Given the description of an element on the screen output the (x, y) to click on. 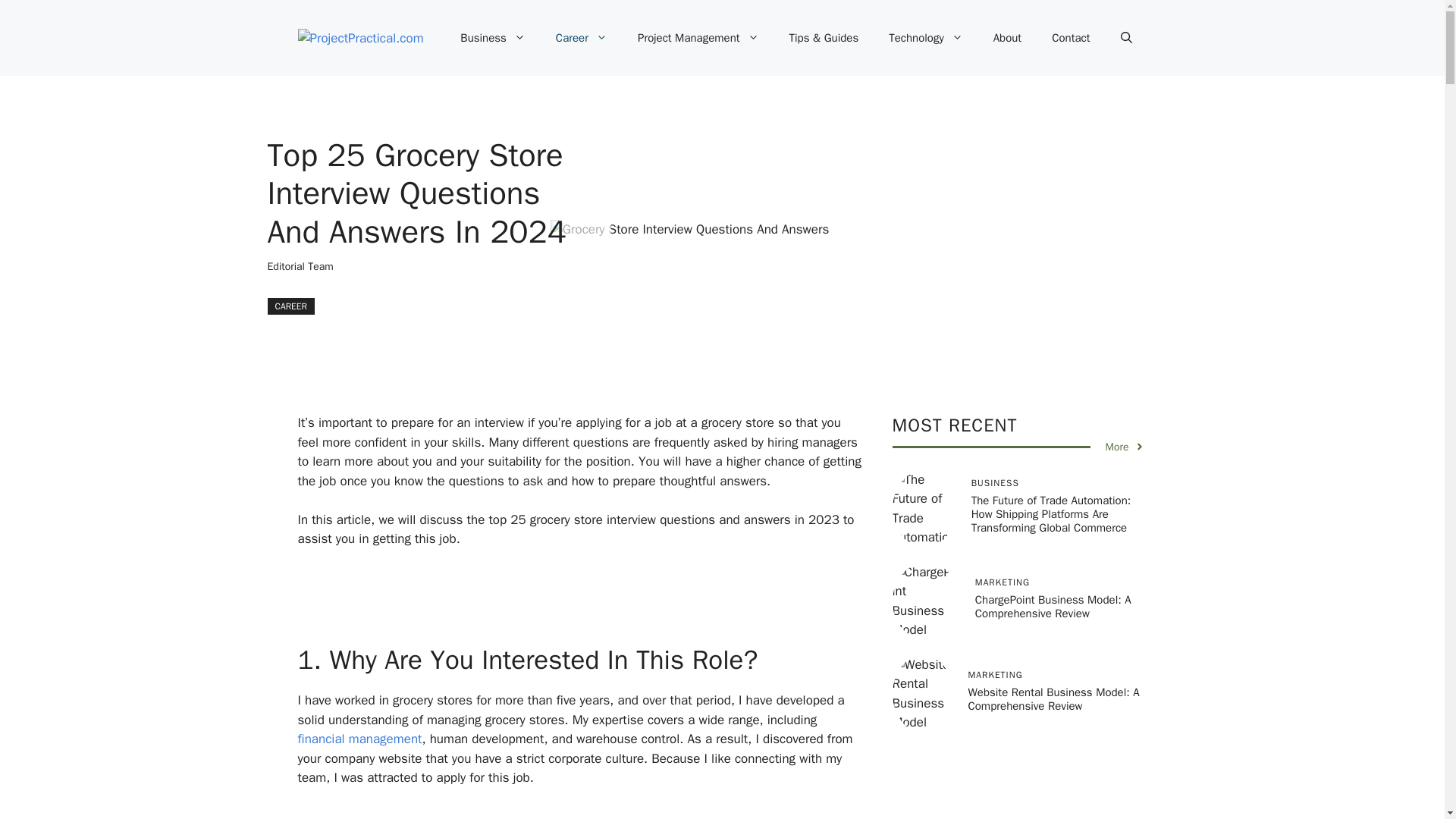
About (1007, 37)
financial management (359, 738)
Business (492, 37)
financial management (359, 738)
Contact (1070, 37)
Career (581, 37)
CAREER (290, 306)
Project Management (698, 37)
Technology (925, 37)
More (1124, 446)
